Given the description of an element on the screen output the (x, y) to click on. 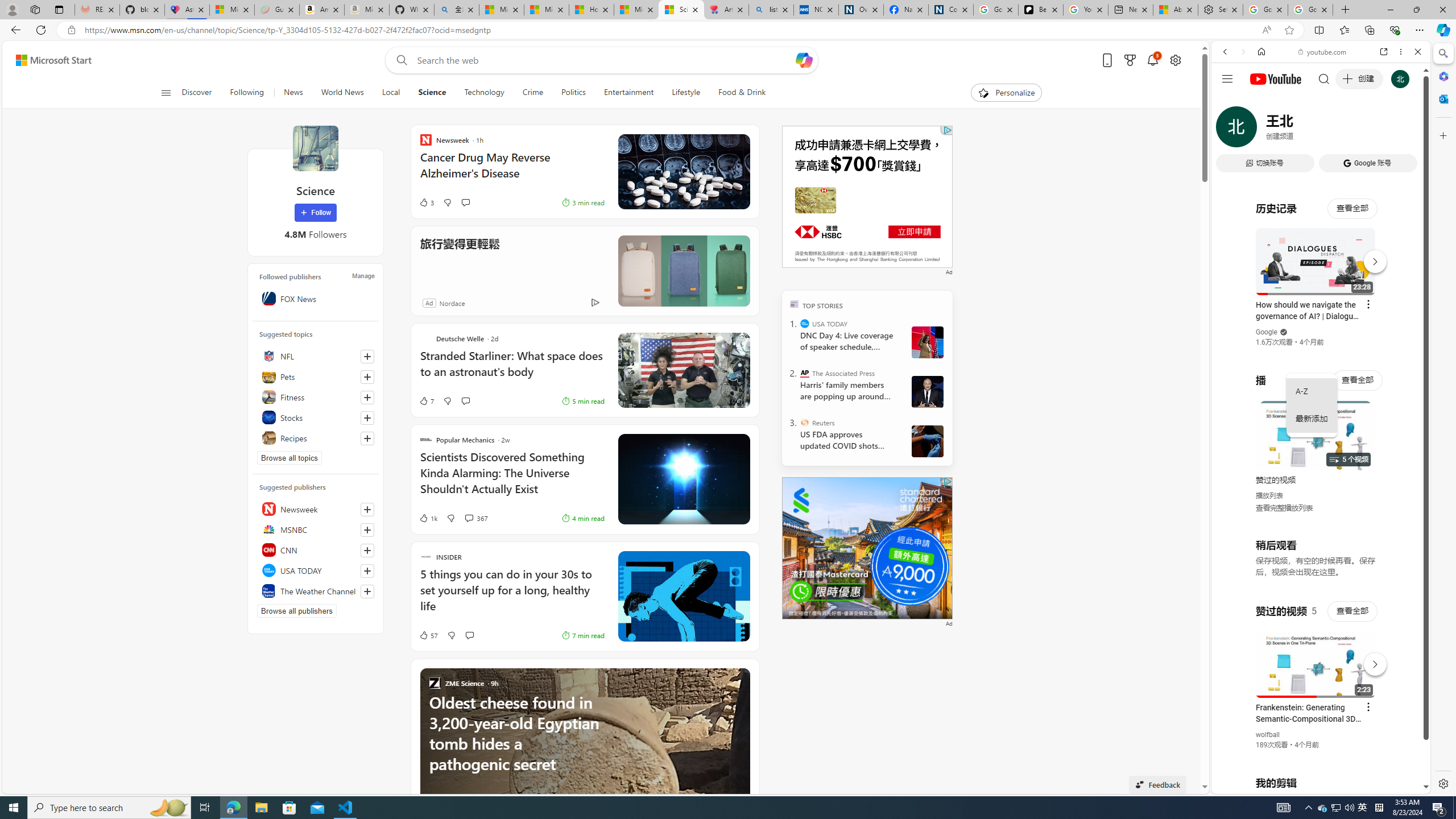
Class: qc-adchoices-link top-right  (946, 481)
View comments 367 Comment (468, 517)
Class: qc-adchoices-icon (947, 481)
#you (1320, 253)
1k Like (427, 517)
Web scope (1230, 102)
Crime (532, 92)
